Given the description of an element on the screen output the (x, y) to click on. 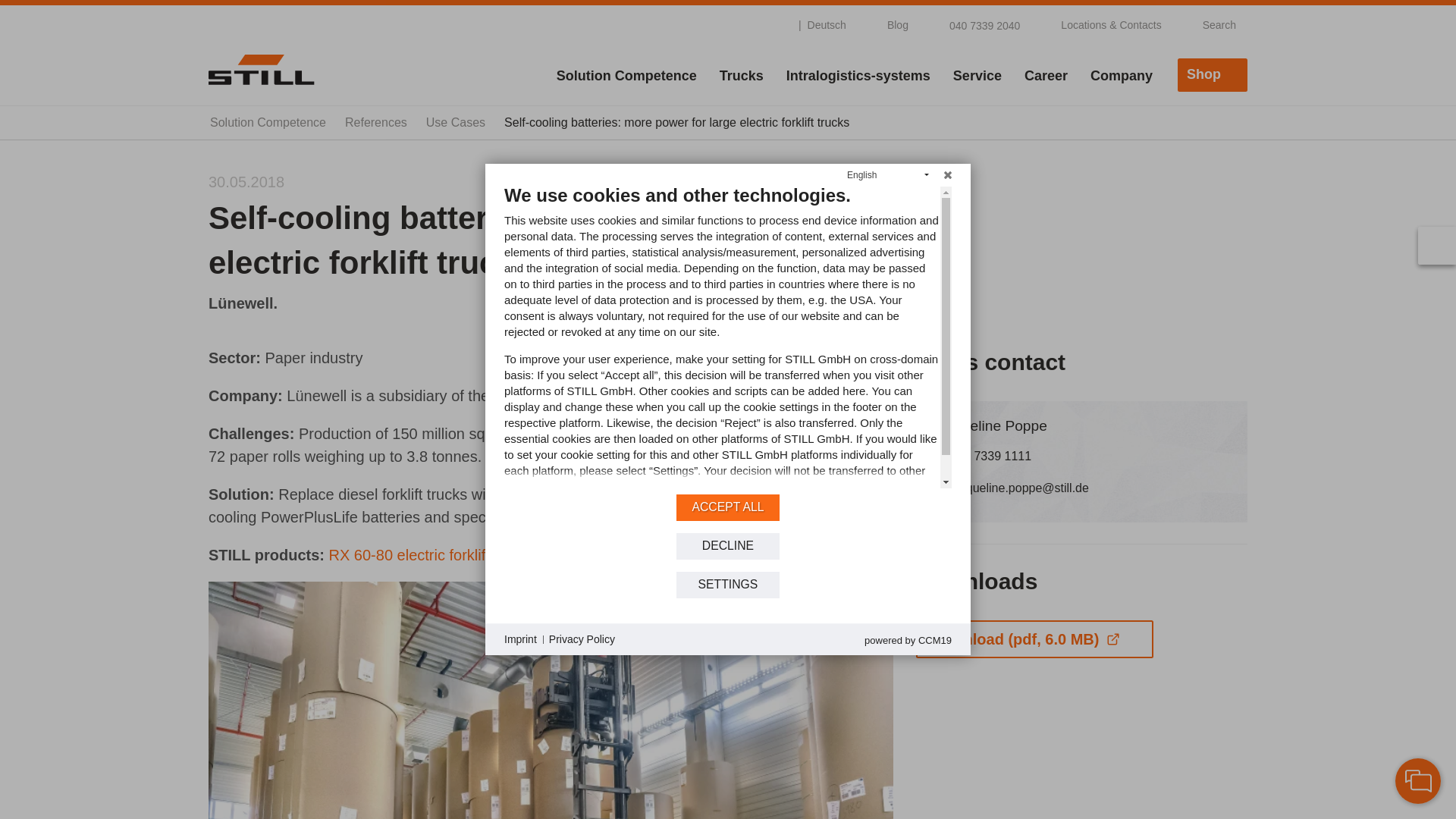
STILL Germany (261, 69)
Shop (1212, 74)
Call hotline (975, 24)
